Given the description of an element on the screen output the (x, y) to click on. 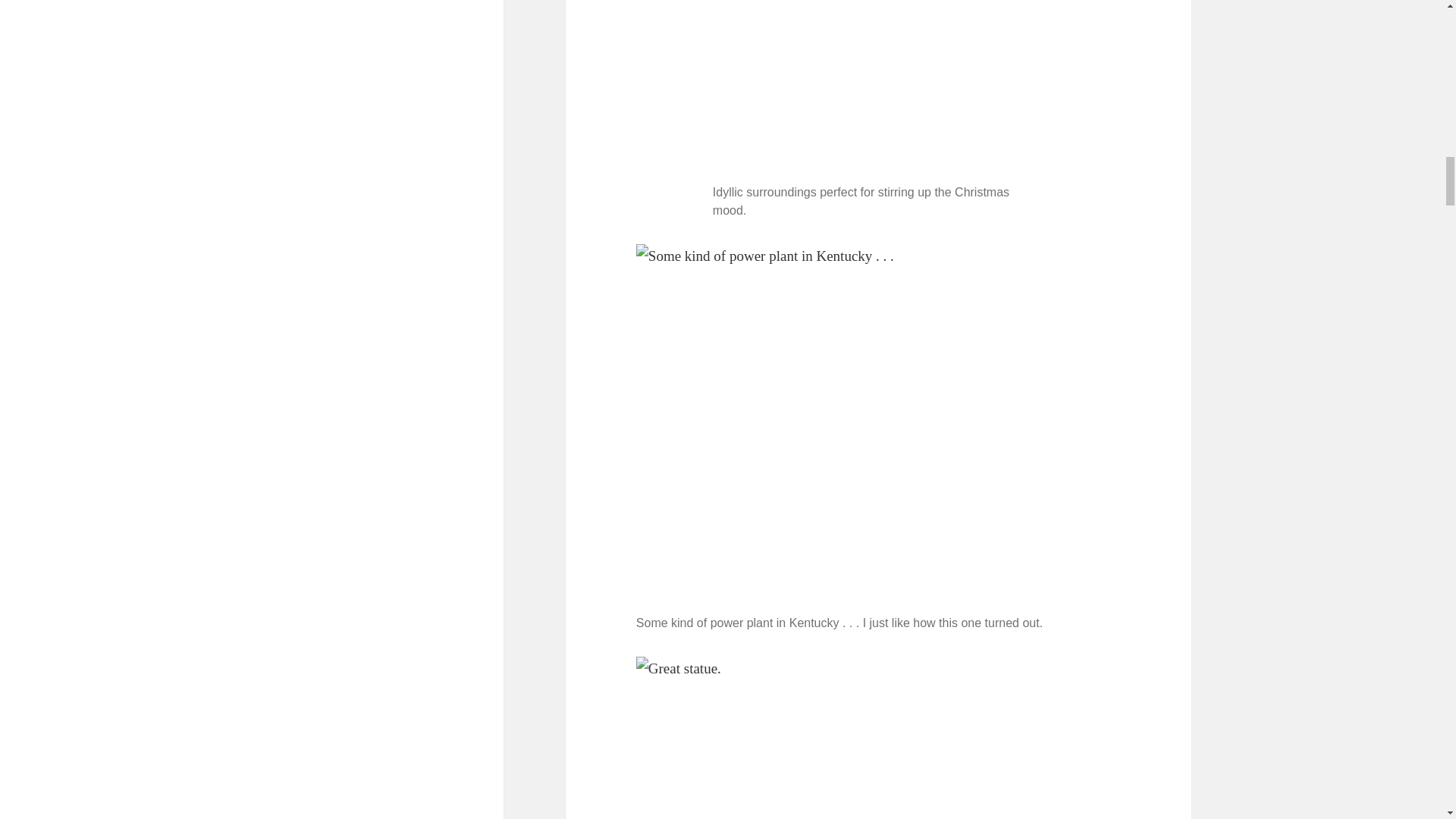
Asheville 2009 (879, 88)
Ashville 2009 (878, 737)
